Given the description of an element on the screen output the (x, y) to click on. 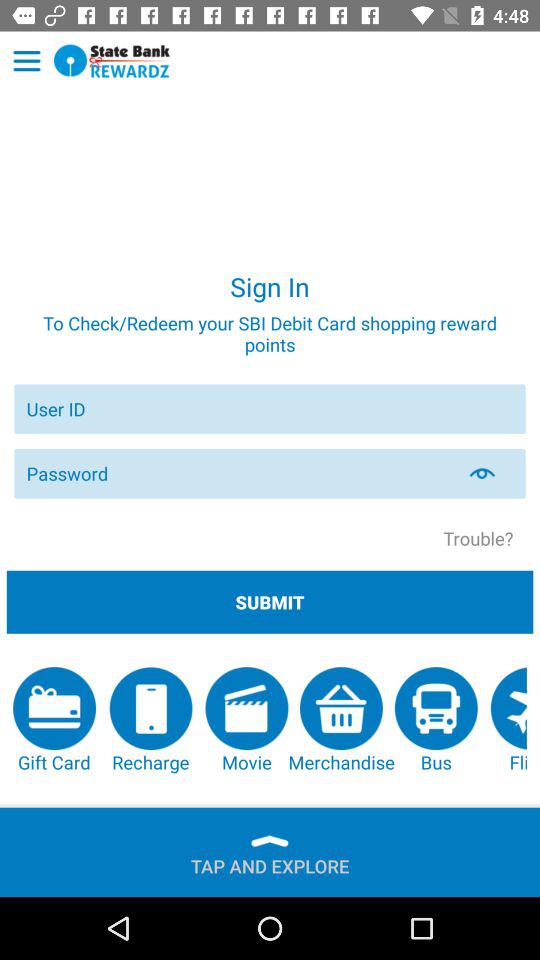
see typing (494, 473)
